Given the description of an element on the screen output the (x, y) to click on. 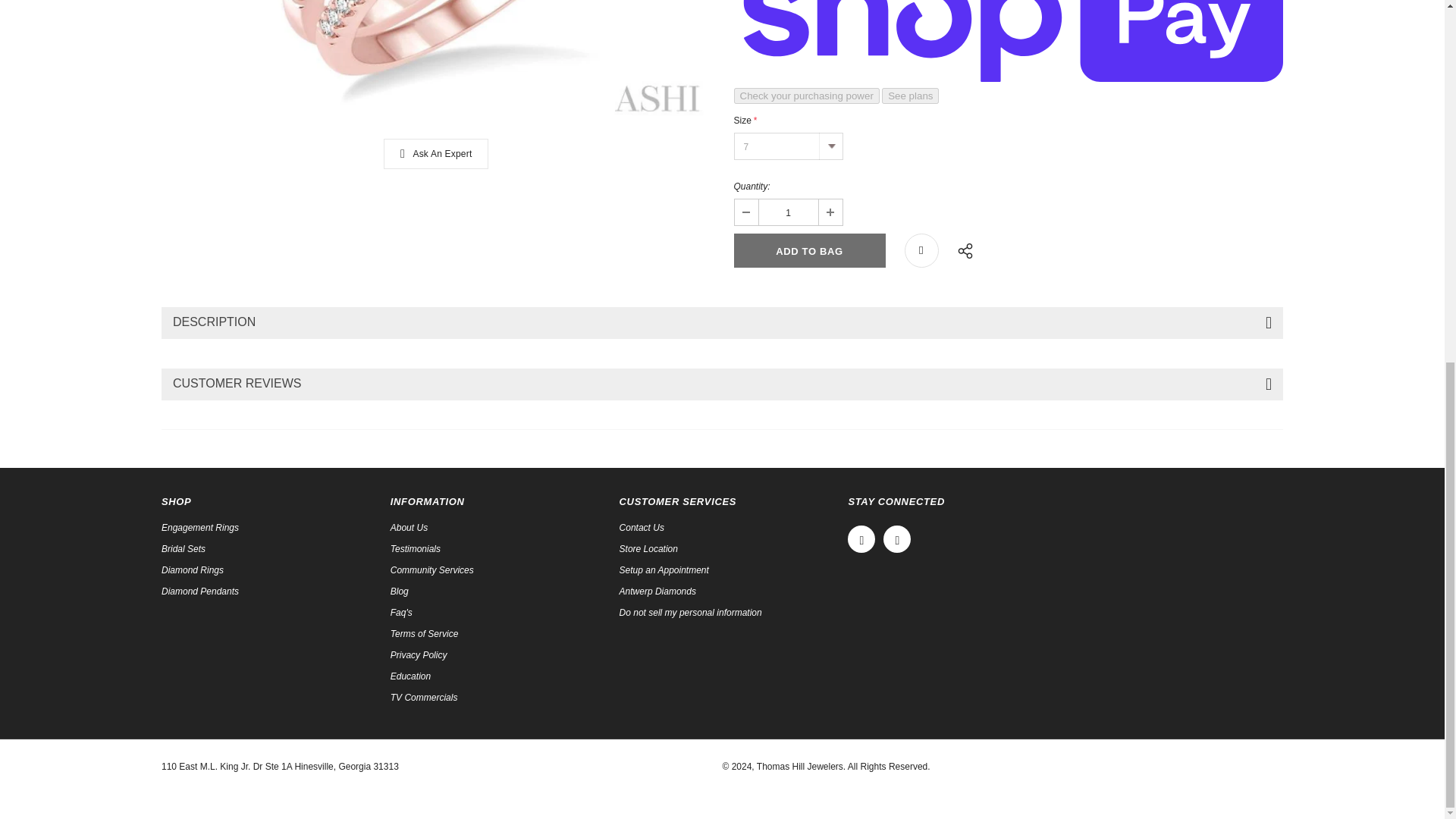
Add to Bag (809, 250)
1 (787, 212)
